Given the description of an element on the screen output the (x, y) to click on. 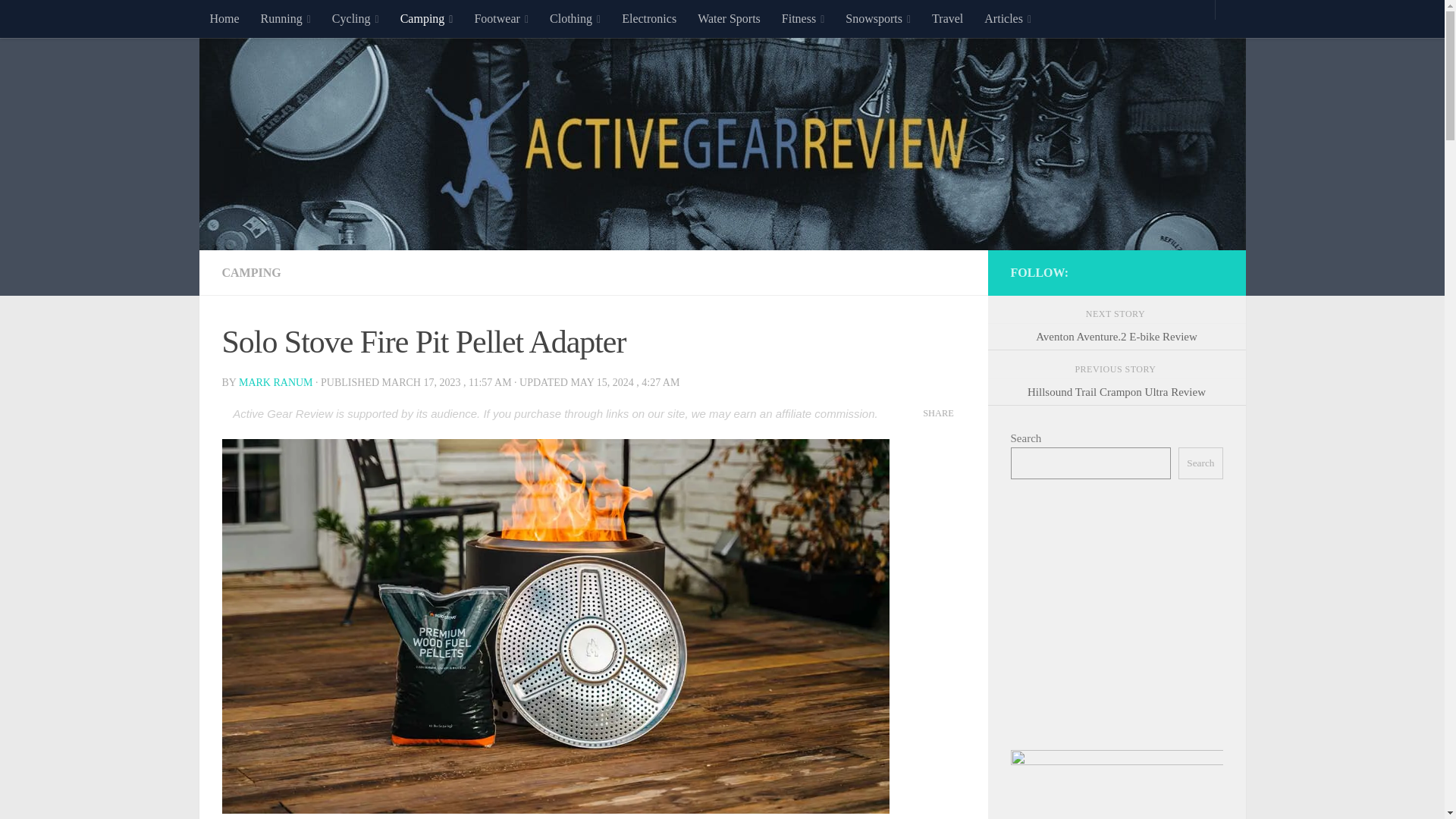
Skip to content (59, 20)
